Given the description of an element on the screen output the (x, y) to click on. 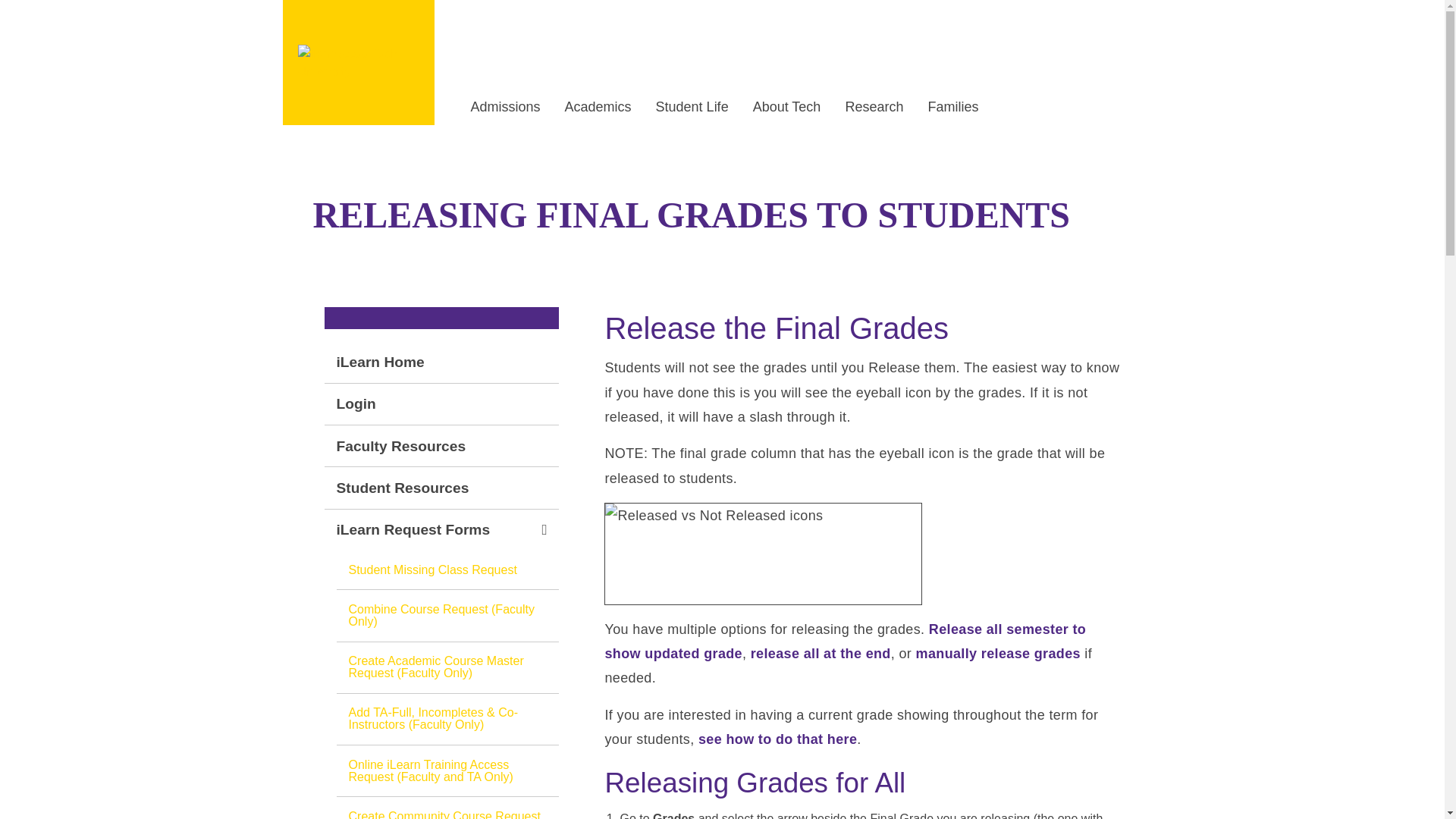
Alumni (661, 23)
Students (484, 23)
